Given the description of an element on the screen output the (x, y) to click on. 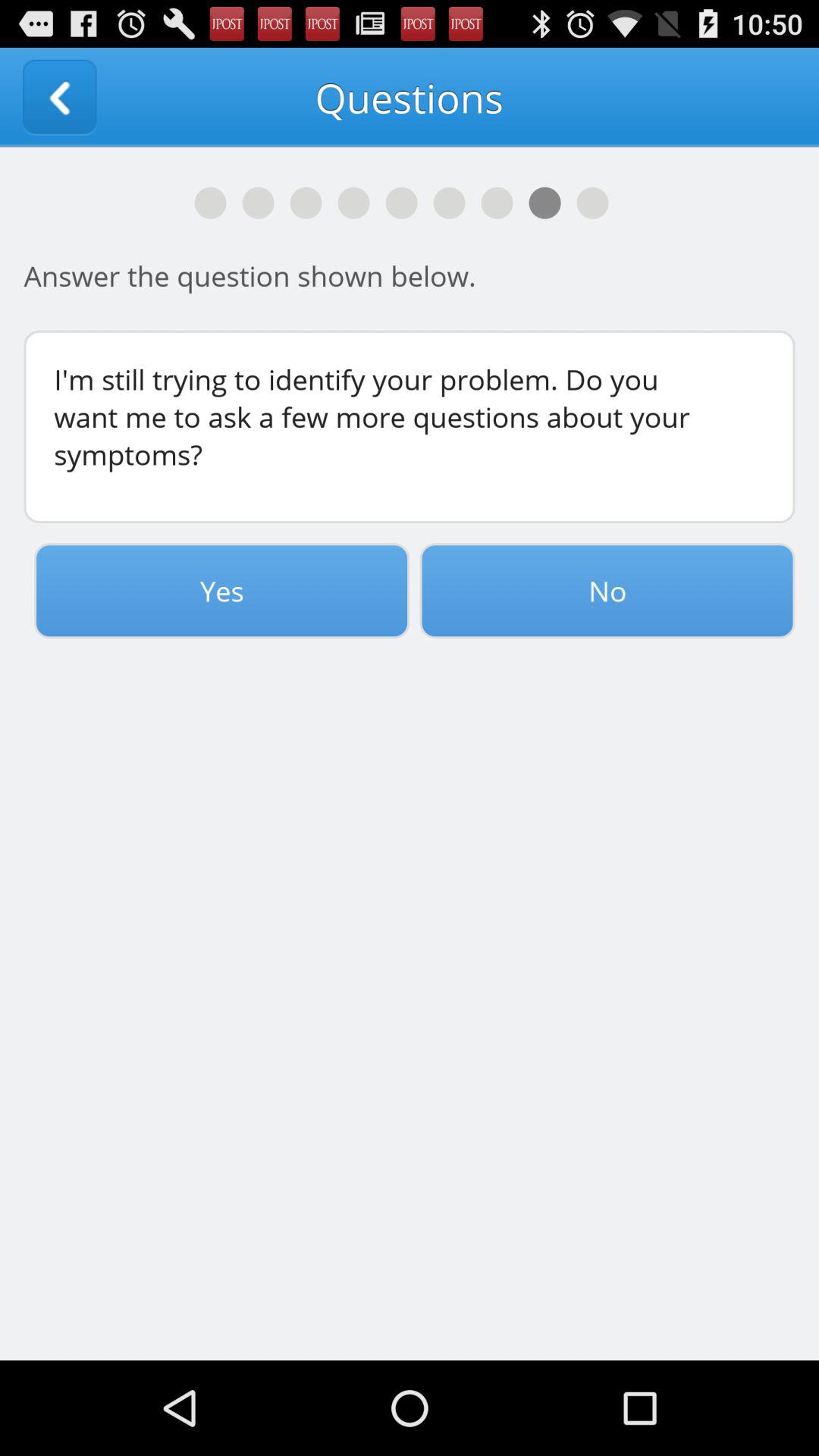
scroll to yes button (221, 590)
